Given the description of an element on the screen output the (x, y) to click on. 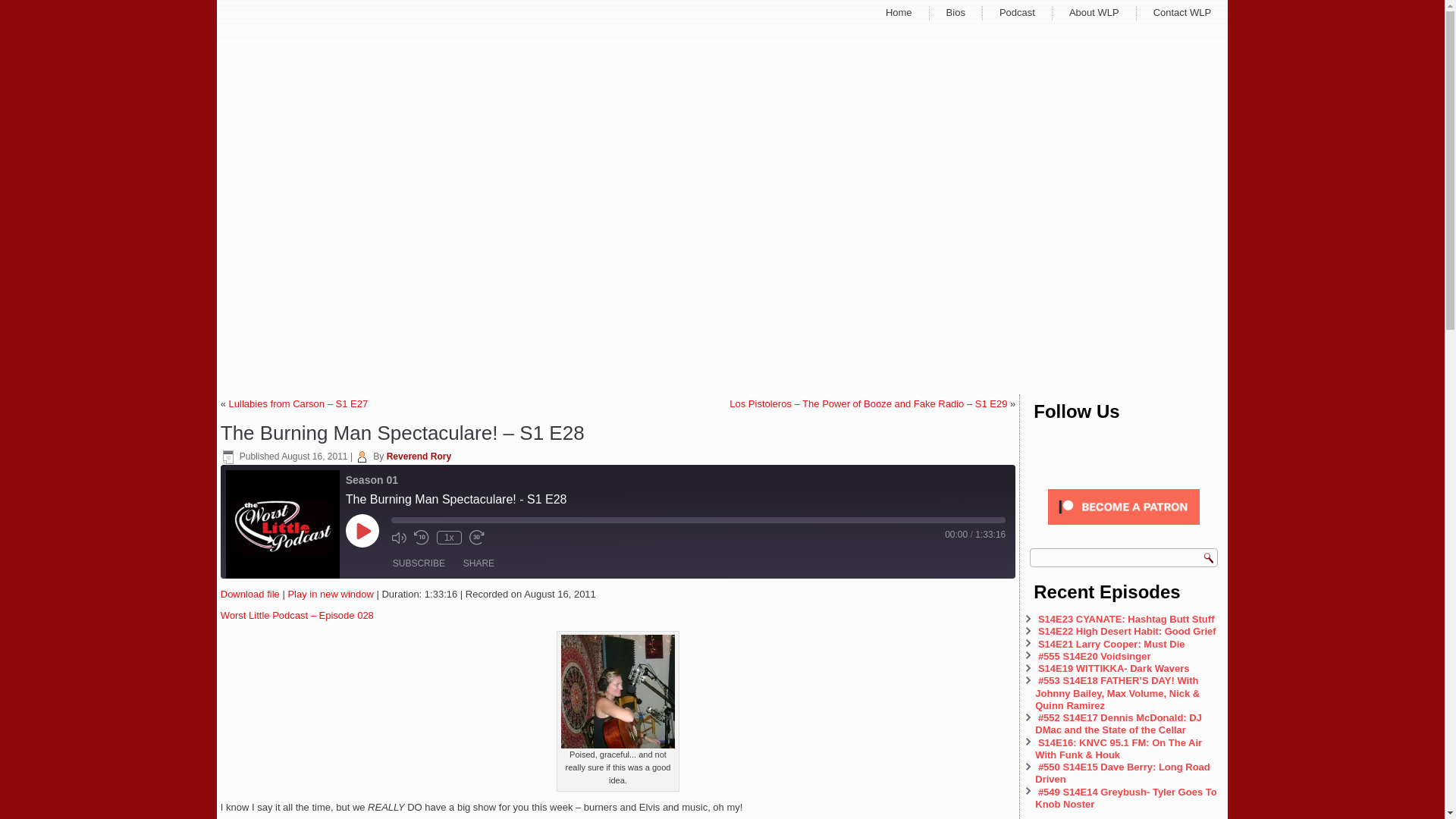
About WLP (1094, 12)
Download file (250, 593)
Bios (955, 12)
Home (898, 12)
Contact WLP (1182, 12)
SUBSCRIBE (418, 563)
1x (448, 537)
Rewind 10 Seconds (421, 537)
SHARE (478, 563)
Fast Forward 30 seconds (476, 537)
Play Episode (362, 530)
Bios (955, 12)
Podcast (1017, 12)
Podcast (1017, 12)
Reverend Rory (419, 456)
